Given the description of an element on the screen output the (x, y) to click on. 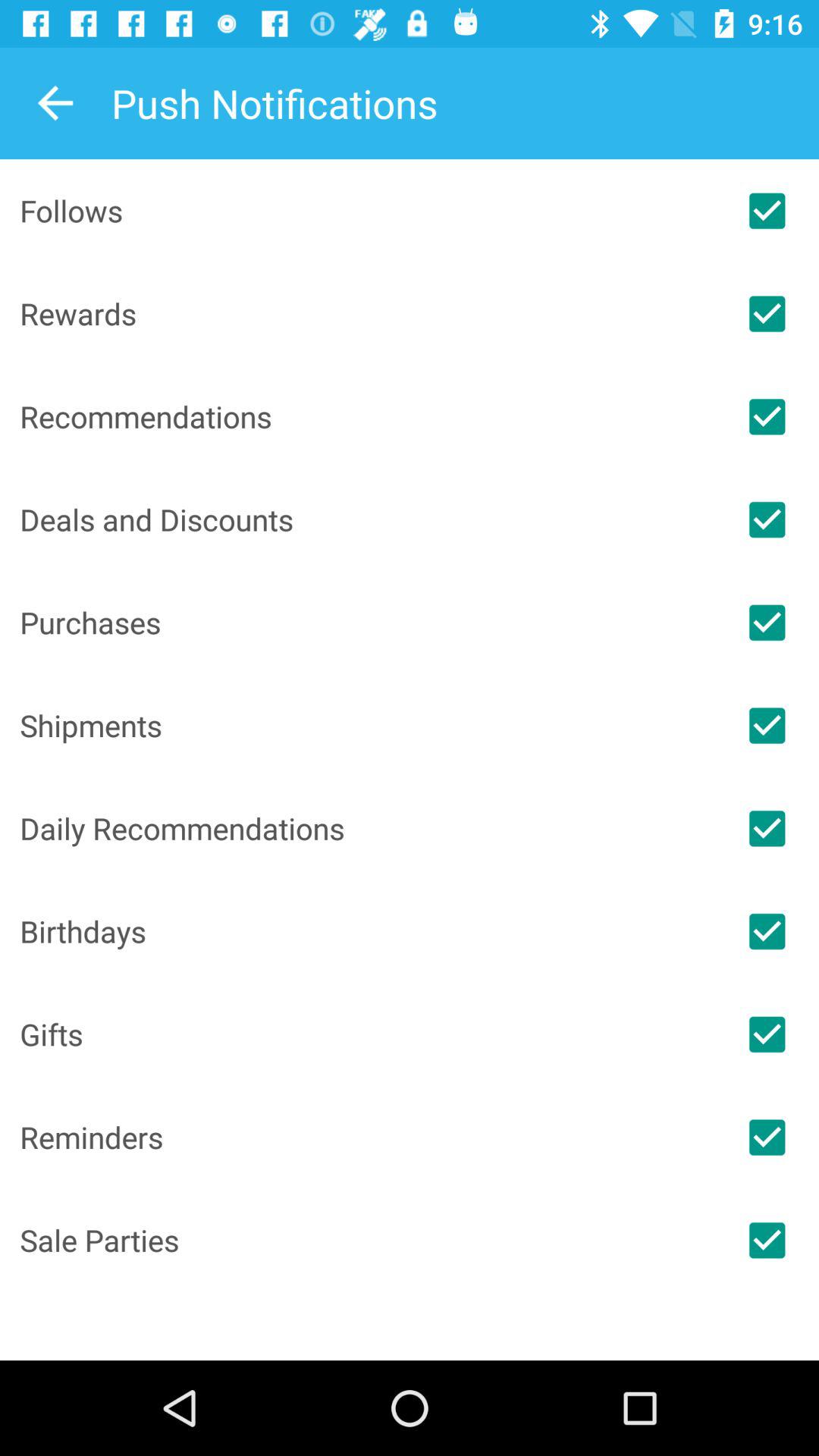
scroll to follows (367, 210)
